Given the description of an element on the screen output the (x, y) to click on. 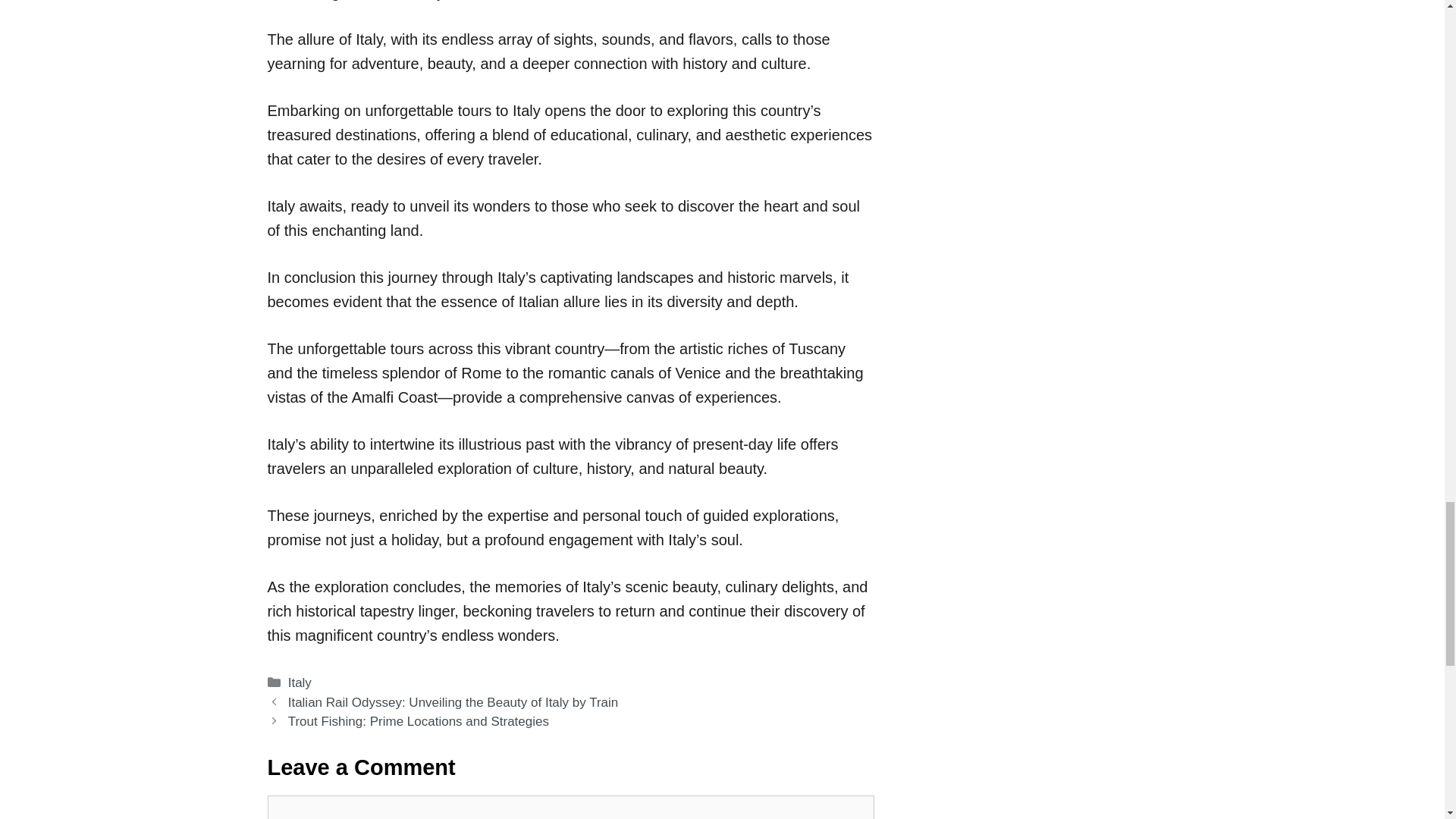
Trout Fishing: Prime Locations and Strategies (418, 721)
Italian Rail Odyssey: Unveiling the Beauty of Italy by Train (453, 701)
Italy (299, 682)
